Given the description of an element on the screen output the (x, y) to click on. 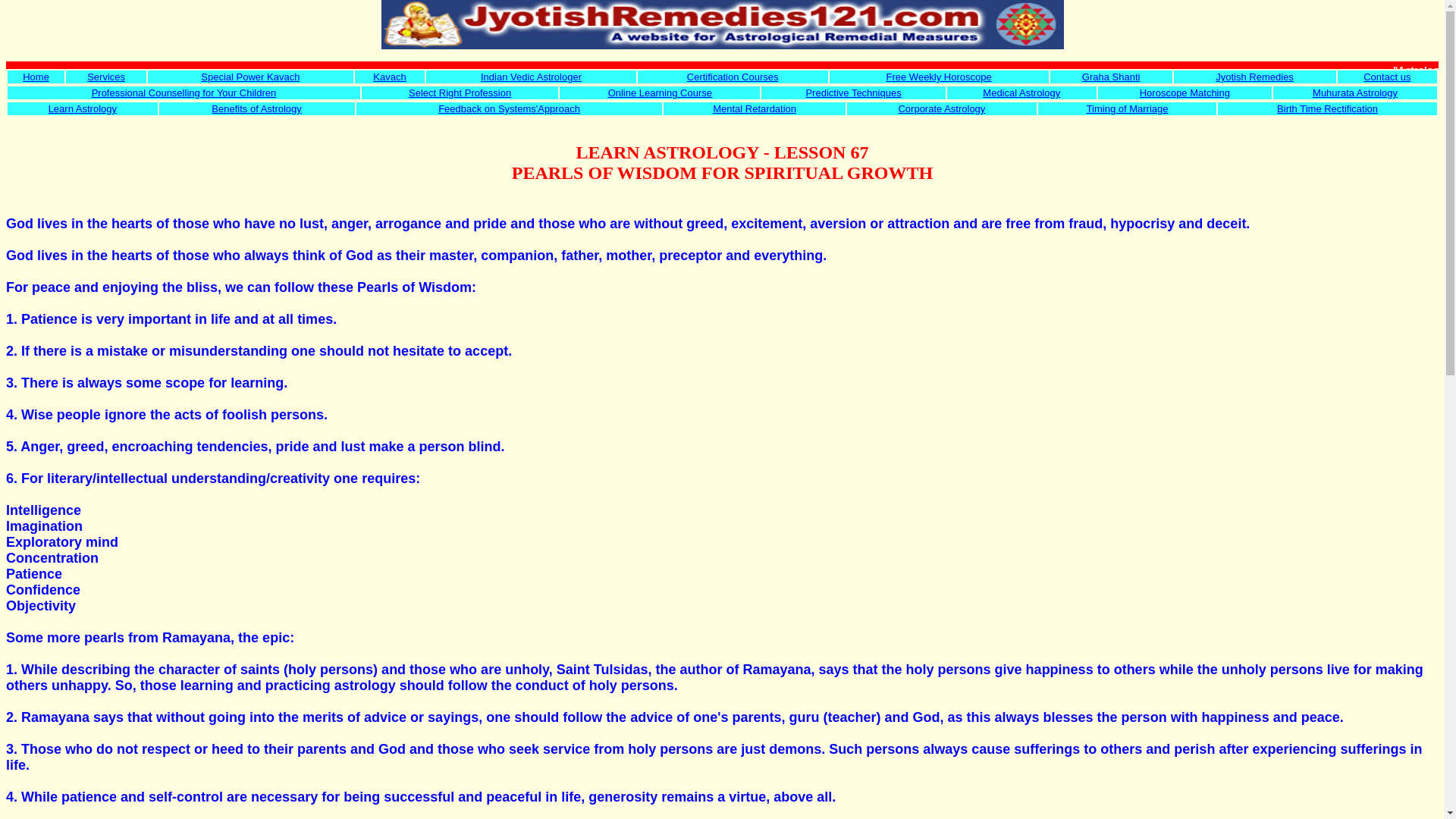
Home (36, 76)
Feedback on Systems'Approach (508, 108)
Medical Astrology (1020, 92)
Corporate Astrology (941, 108)
Services (106, 76)
Timing of Marriage (1127, 108)
Online Learning Course (659, 92)
Horoscope Matching (1185, 92)
Certification Courses (732, 76)
Learn Astrology (82, 108)
Benefits of Astrology (256, 108)
Indian Vedic Astrologer (530, 76)
Muhurata Astrology (1355, 92)
Predictive Techniques (853, 92)
Birth Time Rectification (1326, 108)
